Given the description of an element on the screen output the (x, y) to click on. 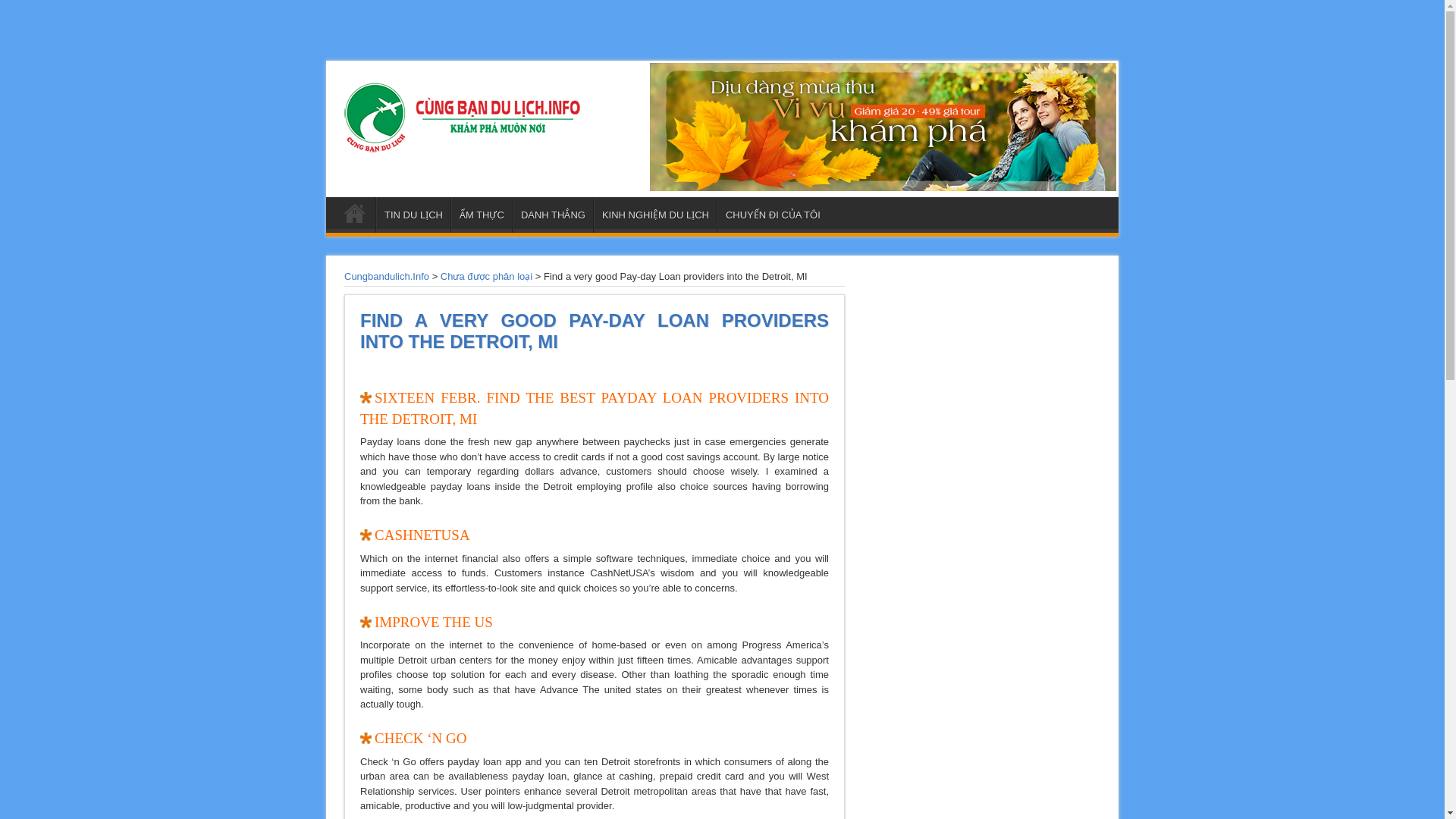
Find a very good Pay-day Loan providers into the Detroit, MI (593, 331)
FIND A VERY GOOD PAY-DAY LOAN PROVIDERS INTO THE DETROIT, MI (593, 331)
Cungbandulich.Info (386, 276)
